Given the description of an element on the screen output the (x, y) to click on. 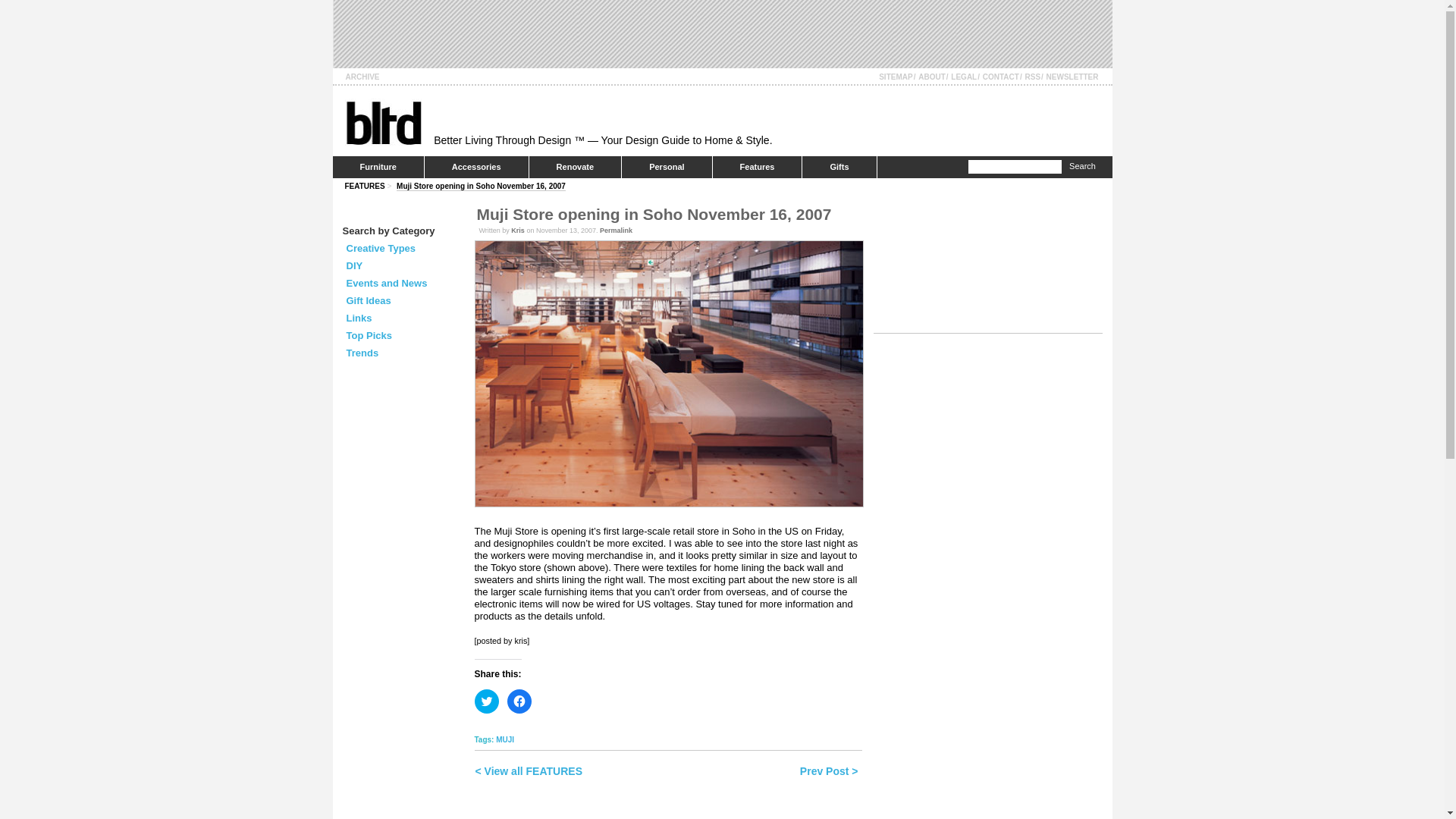
Posts by Kris (517, 230)
Gifts (839, 167)
DIY (354, 265)
Furniture (377, 167)
Muji Store opening in Soho November 16, 2007 (481, 185)
SITEMAP (895, 76)
CONTACT (1000, 76)
RSS (1033, 76)
Creative Types (380, 247)
3rd party ad content (607, 33)
